Given the description of an element on the screen output the (x, y) to click on. 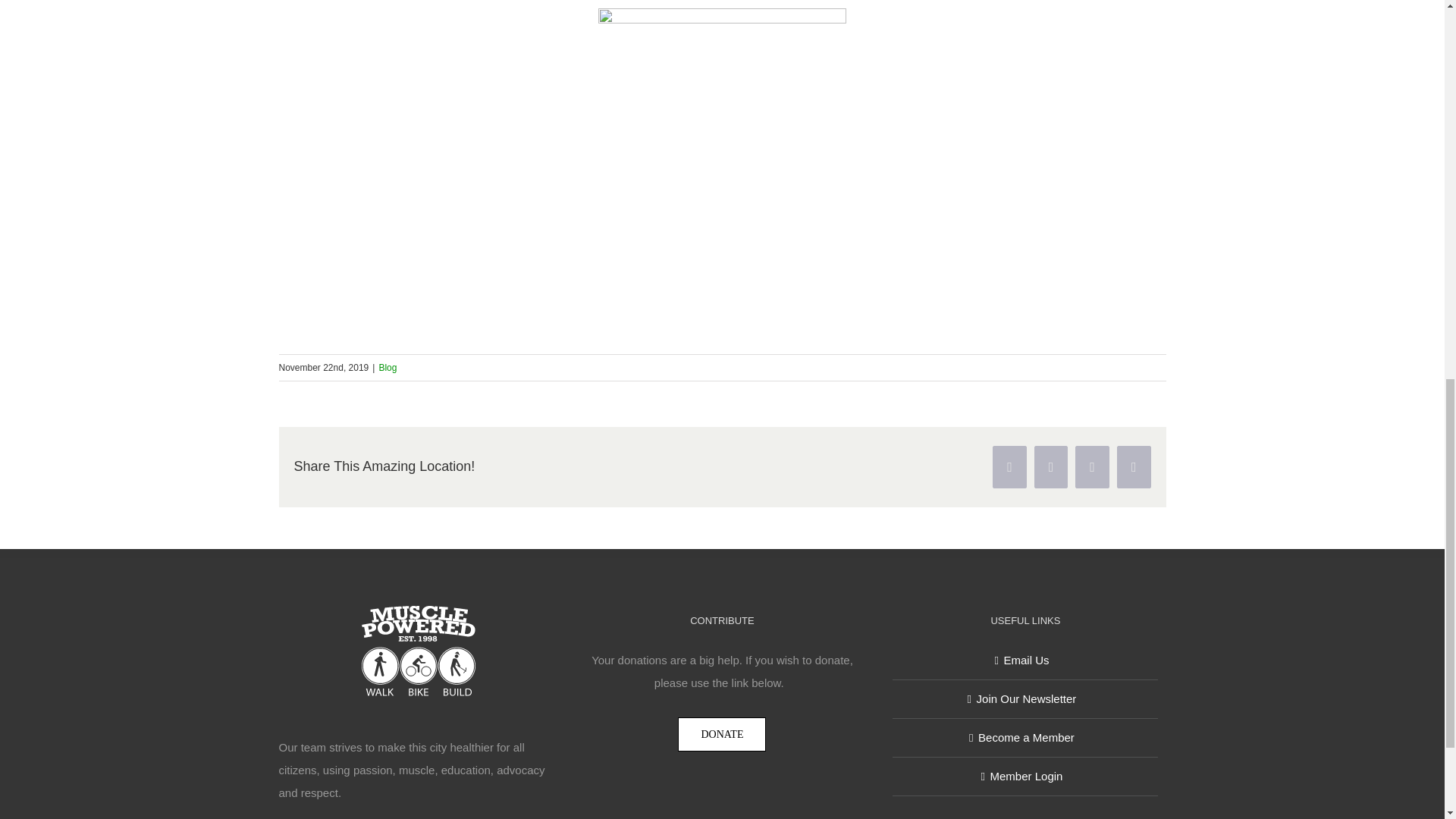
DONATE (721, 734)
Blog (387, 367)
Email Us (1025, 660)
Become a Member (1025, 737)
Join Our Newsletter (1025, 698)
